Given the description of an element on the screen output the (x, y) to click on. 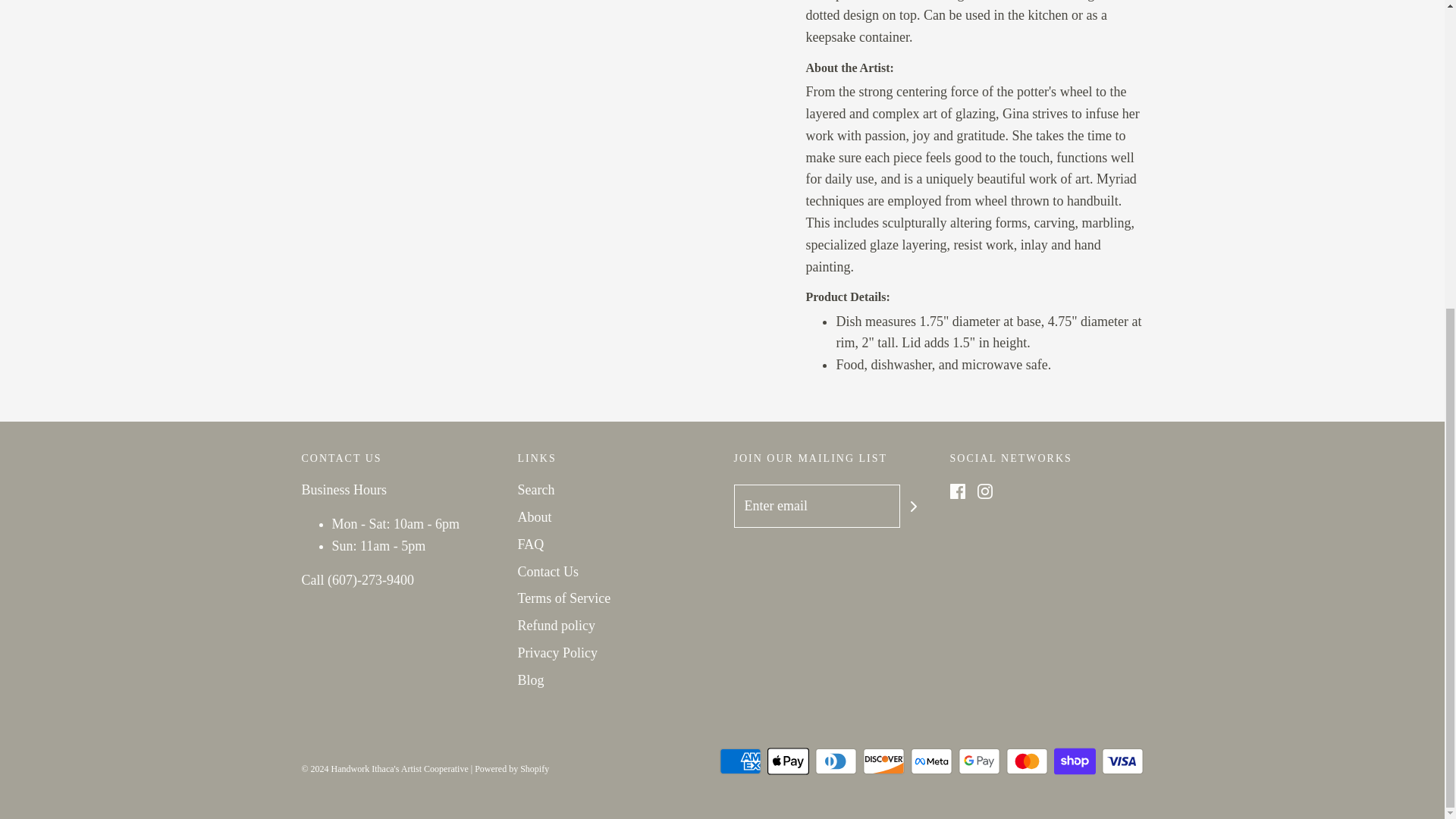
Shop Pay (1075, 761)
Meta Pay (931, 761)
Visa (1121, 761)
American Express (739, 761)
Apple Pay (788, 761)
Mastercard (1026, 761)
Discover (883, 761)
Instagram icon (983, 491)
Google Pay (979, 761)
Facebook icon (956, 491)
Diners Club (834, 761)
